Given the description of an element on the screen output the (x, y) to click on. 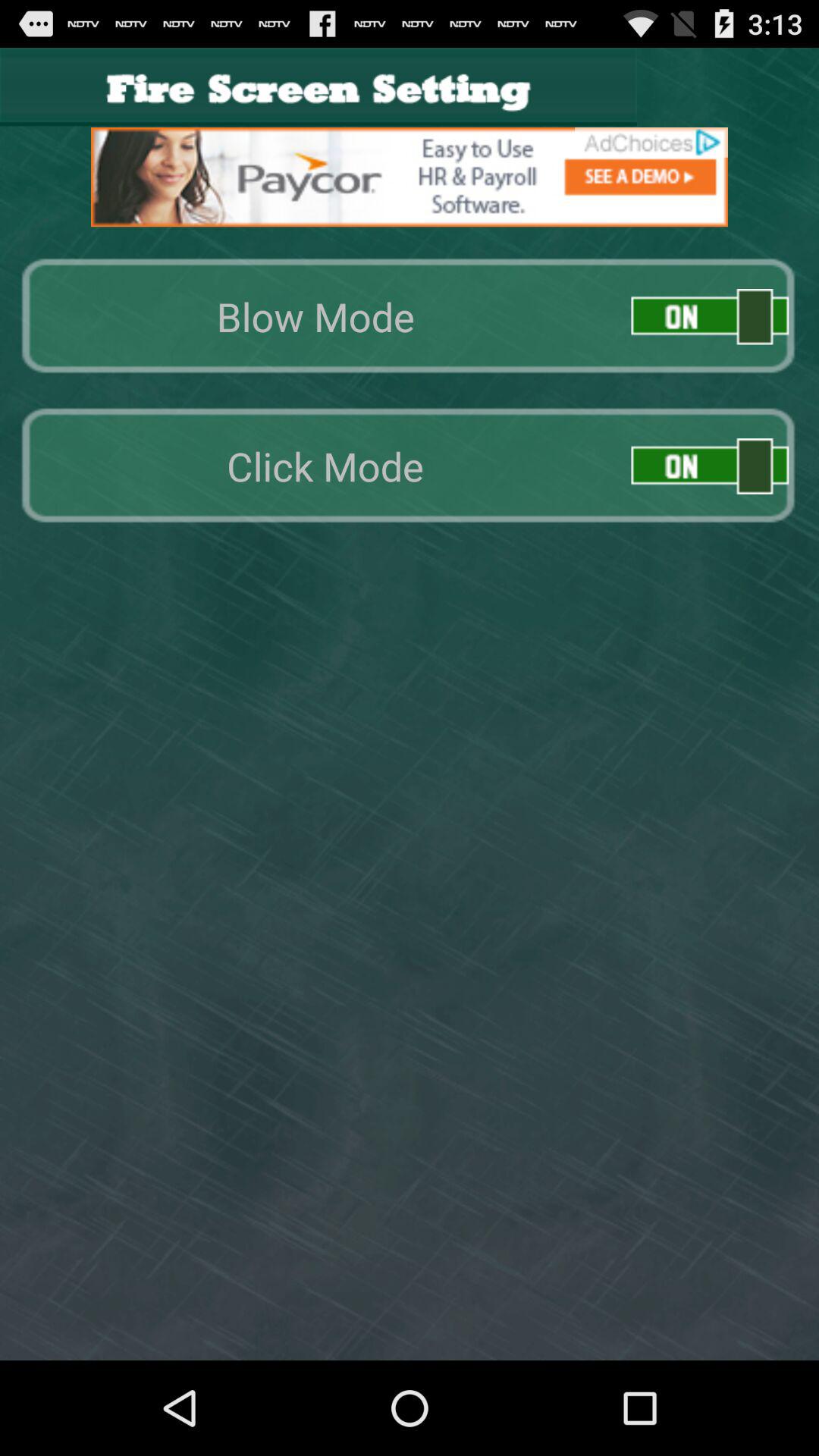
on/off button (709, 466)
